Given the description of an element on the screen output the (x, y) to click on. 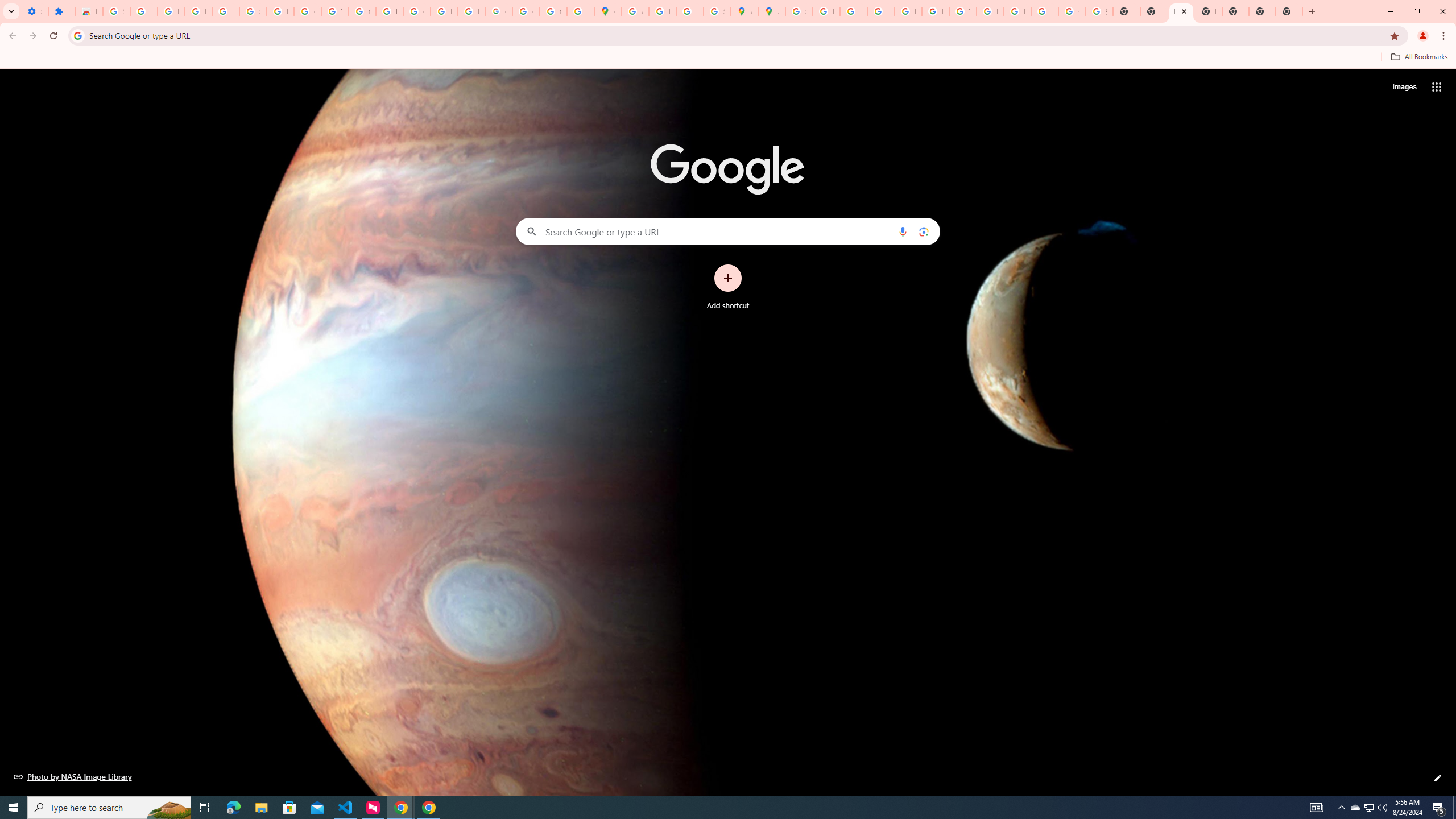
Sign in - Google Accounts (799, 11)
Sign in - Google Accounts (116, 11)
Reviews: Helix Fruit Jump Arcade Game (88, 11)
Sign in - Google Accounts (253, 11)
Settings - On startup (34, 11)
Google Account (307, 11)
